Given the description of an element on the screen output the (x, y) to click on. 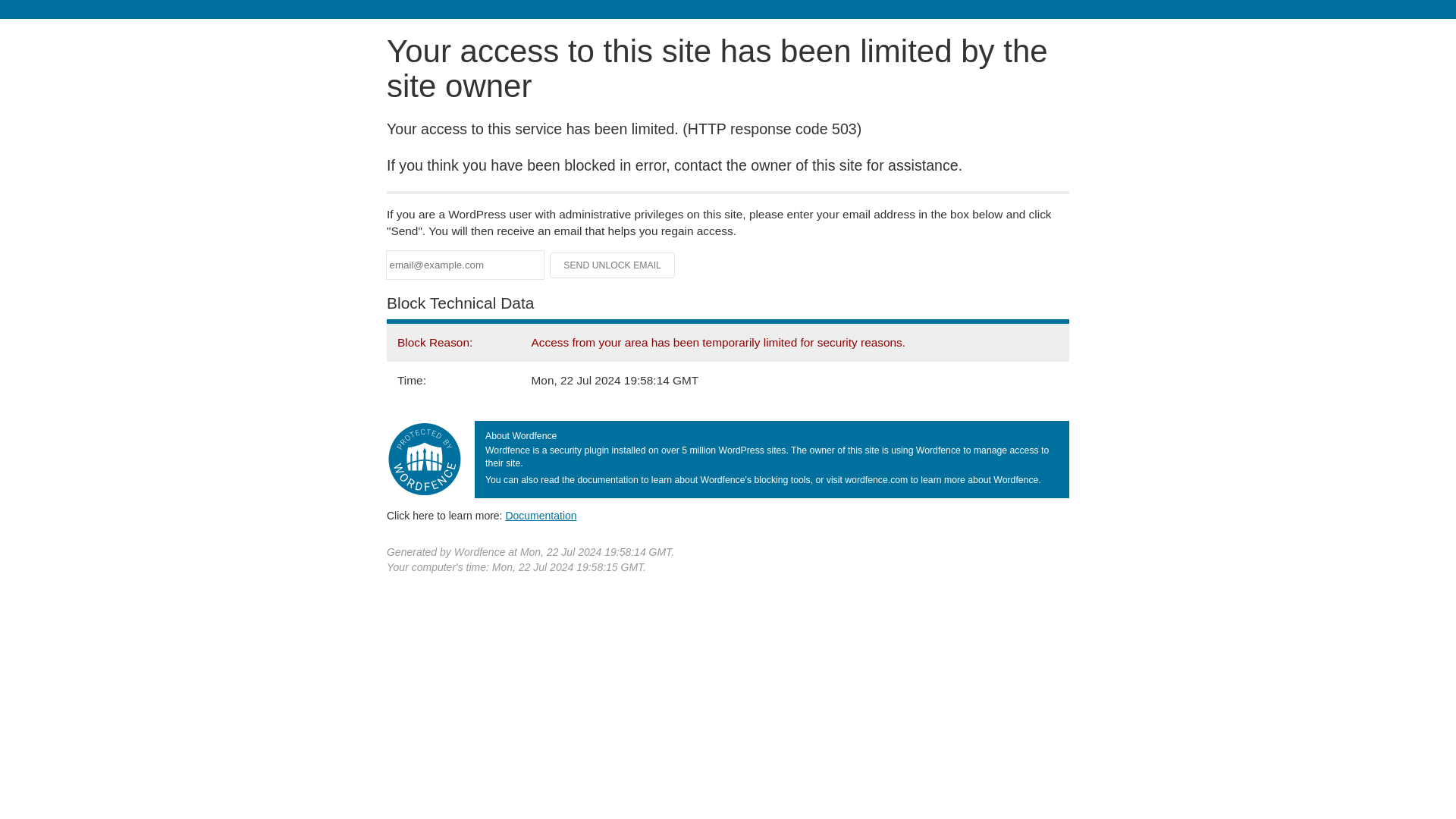
Send Unlock Email (612, 265)
Documentation (540, 515)
Send Unlock Email (612, 265)
